Given the description of an element on the screen output the (x, y) to click on. 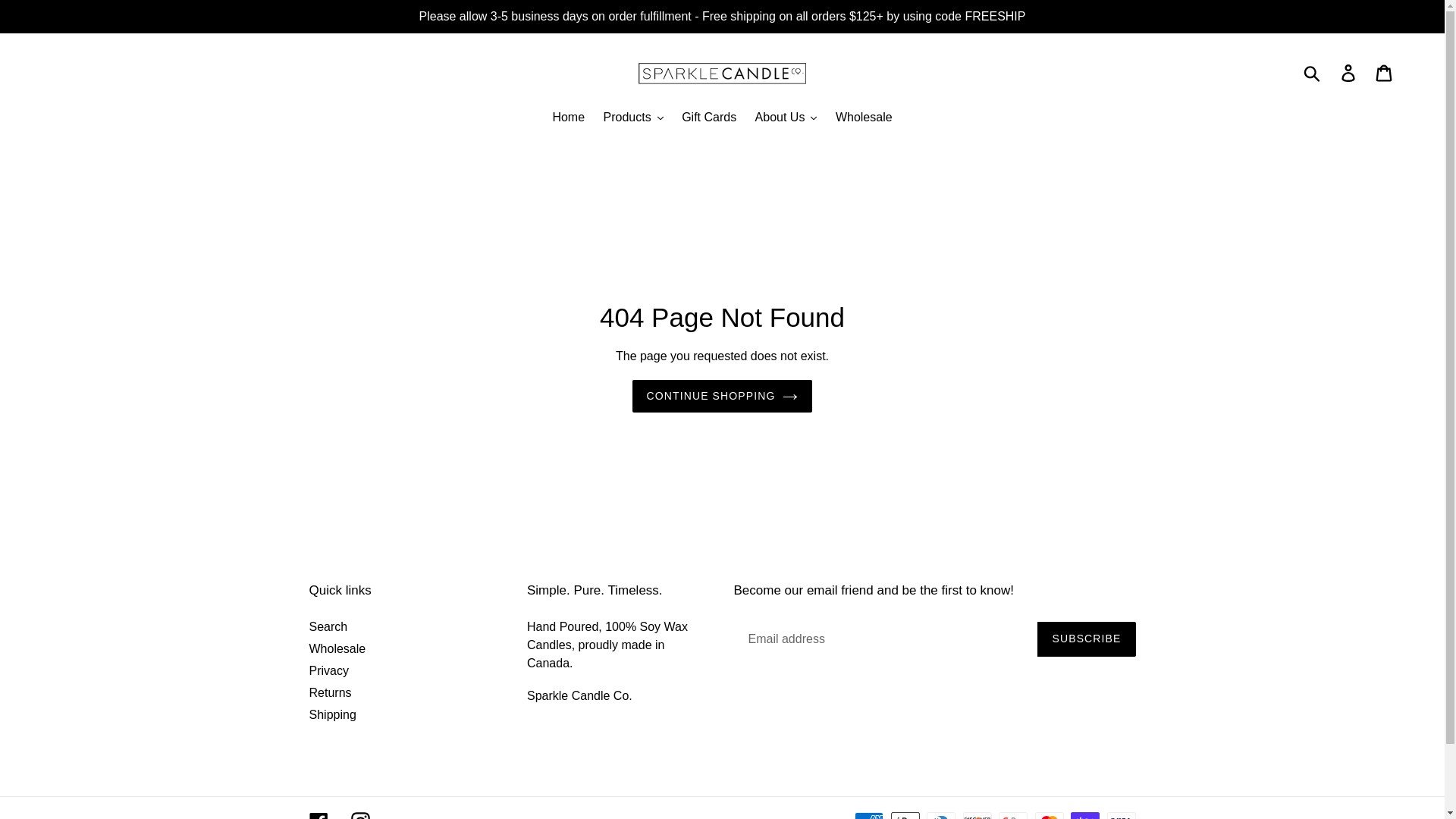
Log in (1349, 72)
Submit (1313, 72)
Gift Cards (709, 118)
Cart (1385, 72)
Home (568, 118)
